Given the description of an element on the screen output the (x, y) to click on. 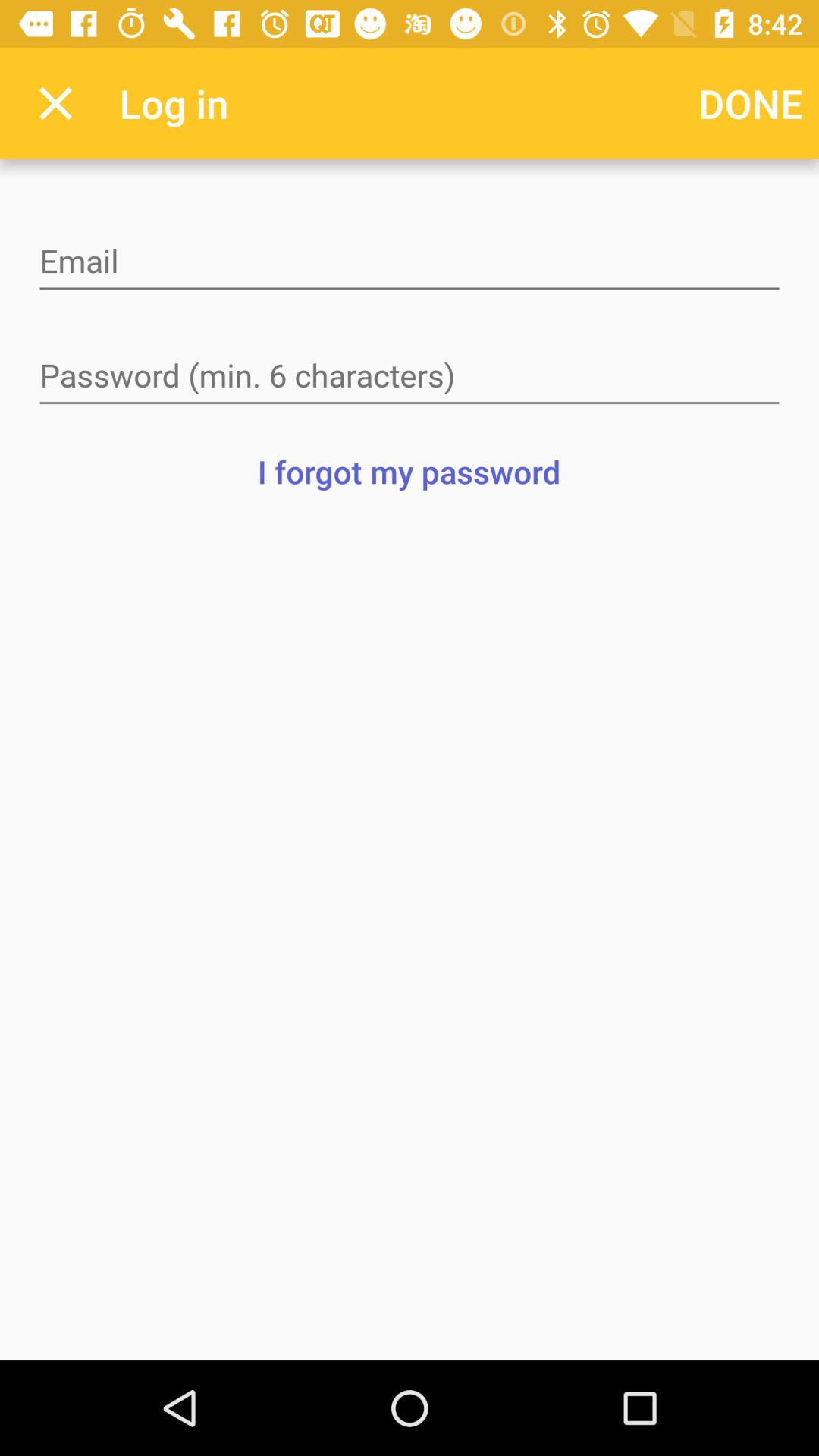
enter email address (409, 262)
